Given the description of an element on the screen output the (x, y) to click on. 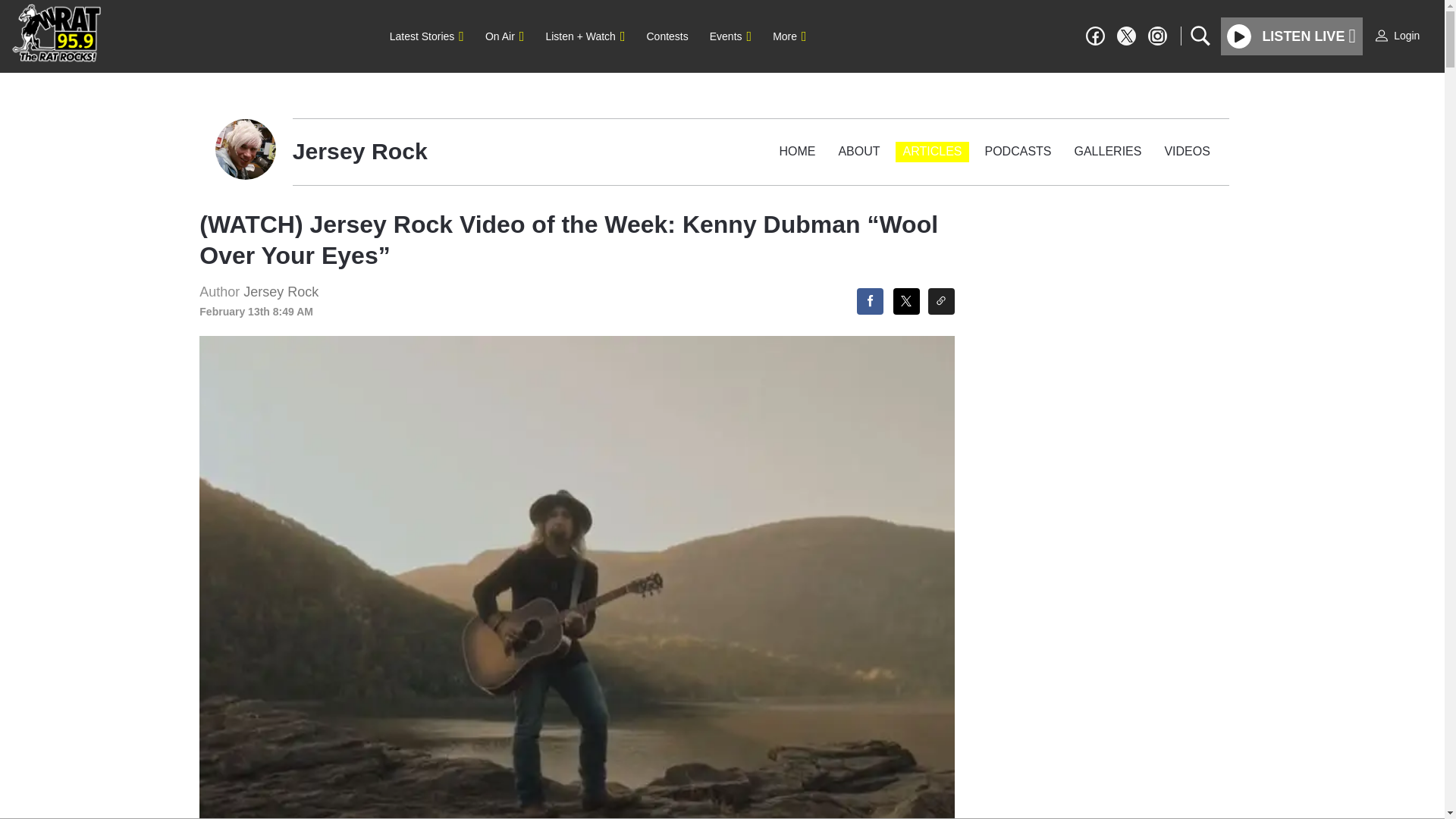
Latest Stories (426, 36)
On Air (504, 36)
Jersey Rock (280, 291)
